Given the description of an element on the screen output the (x, y) to click on. 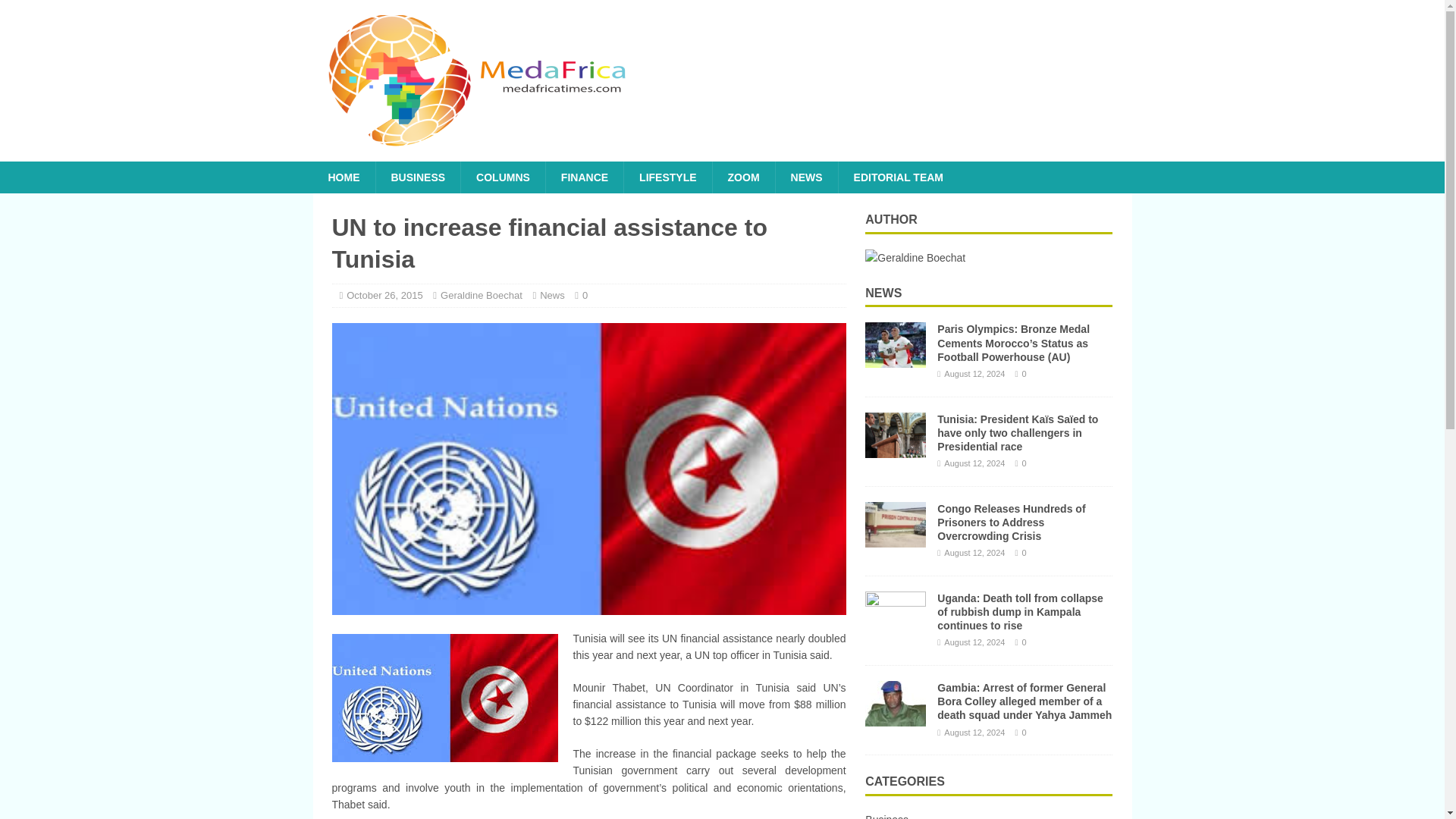
FINANCE (583, 177)
Geraldine Boechat (481, 295)
COLUMNS (502, 177)
EDITORIAL TEAM (898, 177)
News (552, 295)
ZOOM (742, 177)
NEWS (882, 292)
